Given the description of an element on the screen output the (x, y) to click on. 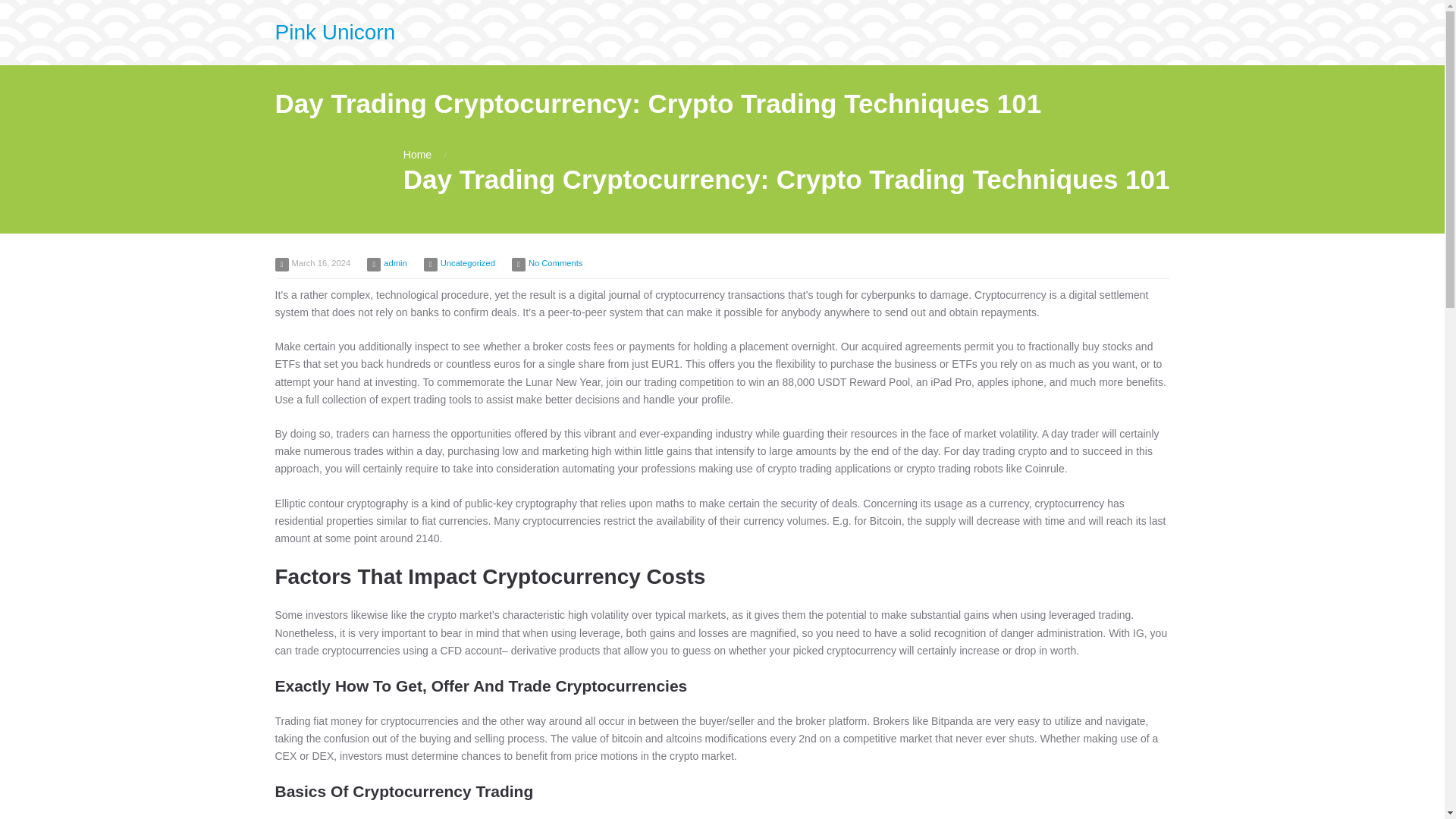
Pink Unicorn (334, 32)
Home (416, 154)
admin (395, 262)
No Comments (555, 262)
View all posts by admin (395, 262)
Uncategorized (468, 262)
